Given the description of an element on the screen output the (x, y) to click on. 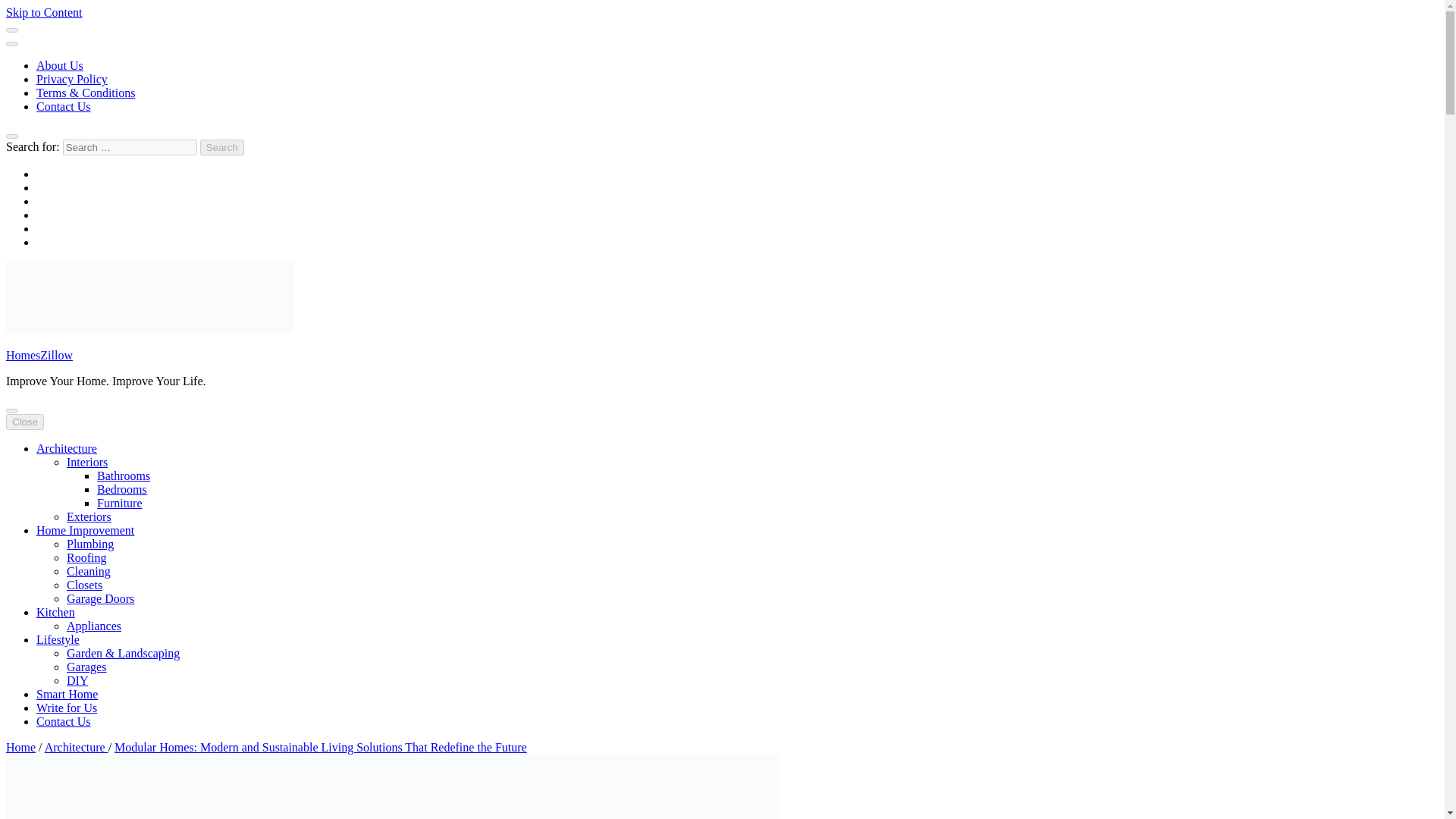
Search (222, 147)
Lifestyle (58, 639)
Garage Doors (99, 598)
Contact Us (63, 721)
Search (222, 147)
Kitchen (55, 612)
Plumbing (89, 543)
Bedrooms (122, 489)
Bathrooms (123, 475)
Skip to Content (43, 11)
Search (222, 147)
DIY (76, 680)
About Us (59, 65)
Privacy Policy (71, 78)
Cleaning (88, 571)
